Given the description of an element on the screen output the (x, y) to click on. 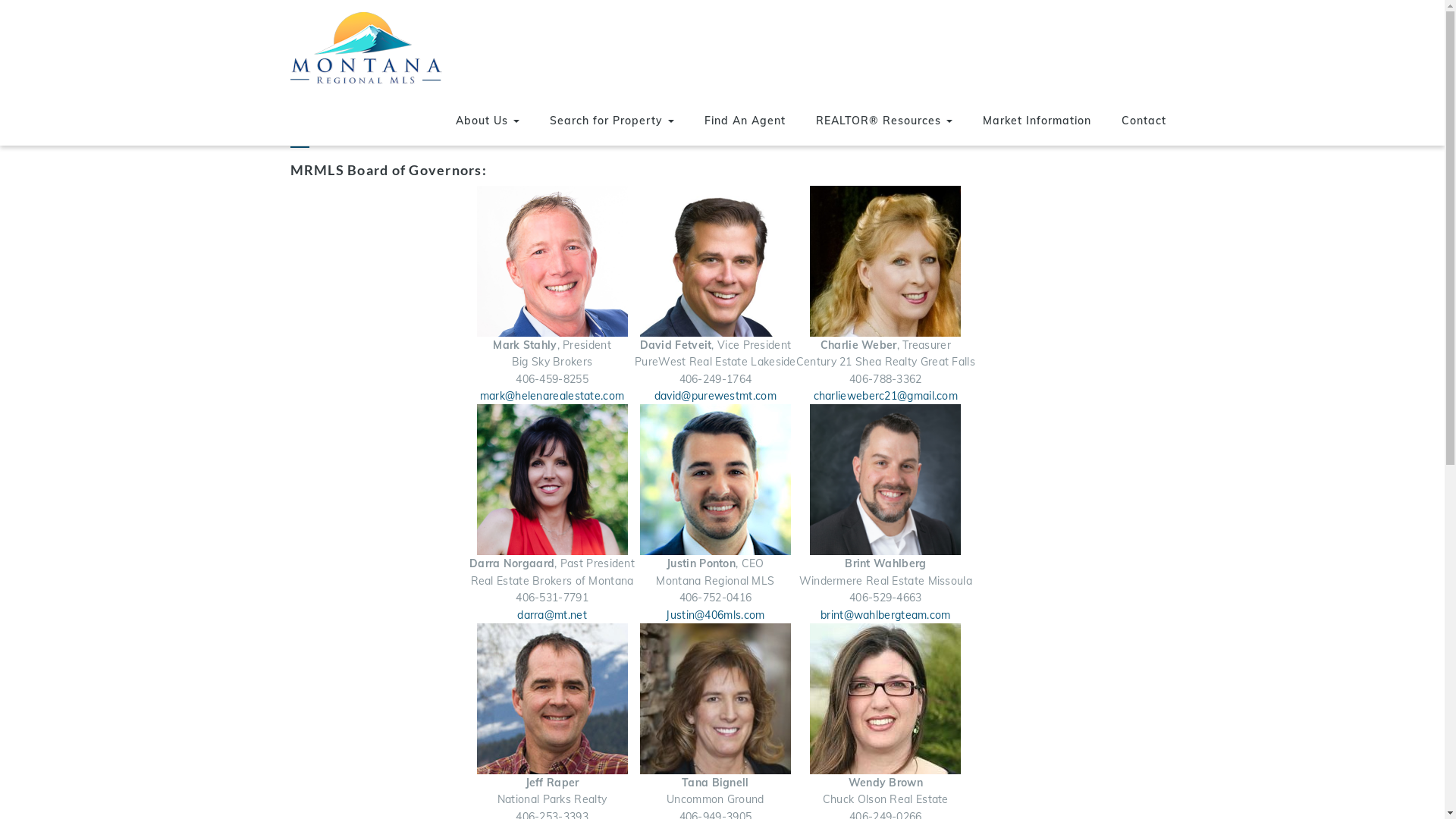
Find An Agent Element type: text (743, 120)
charlieweberc21@gmail.com Element type: text (885, 395)
Contact Element type: text (1142, 120)
Justin@406mls.com Element type: text (714, 614)
brint@wahlbergteam.com Element type: text (885, 614)
Search for Property Element type: text (611, 120)
darra@mt.net Element type: text (551, 614)
mark@helenarealestate.com Element type: text (552, 395)
About Us Element type: text (486, 120)
david@purewestmt.com Element type: text (715, 395)
Market Information Element type: text (1036, 120)
